Given the description of an element on the screen output the (x, y) to click on. 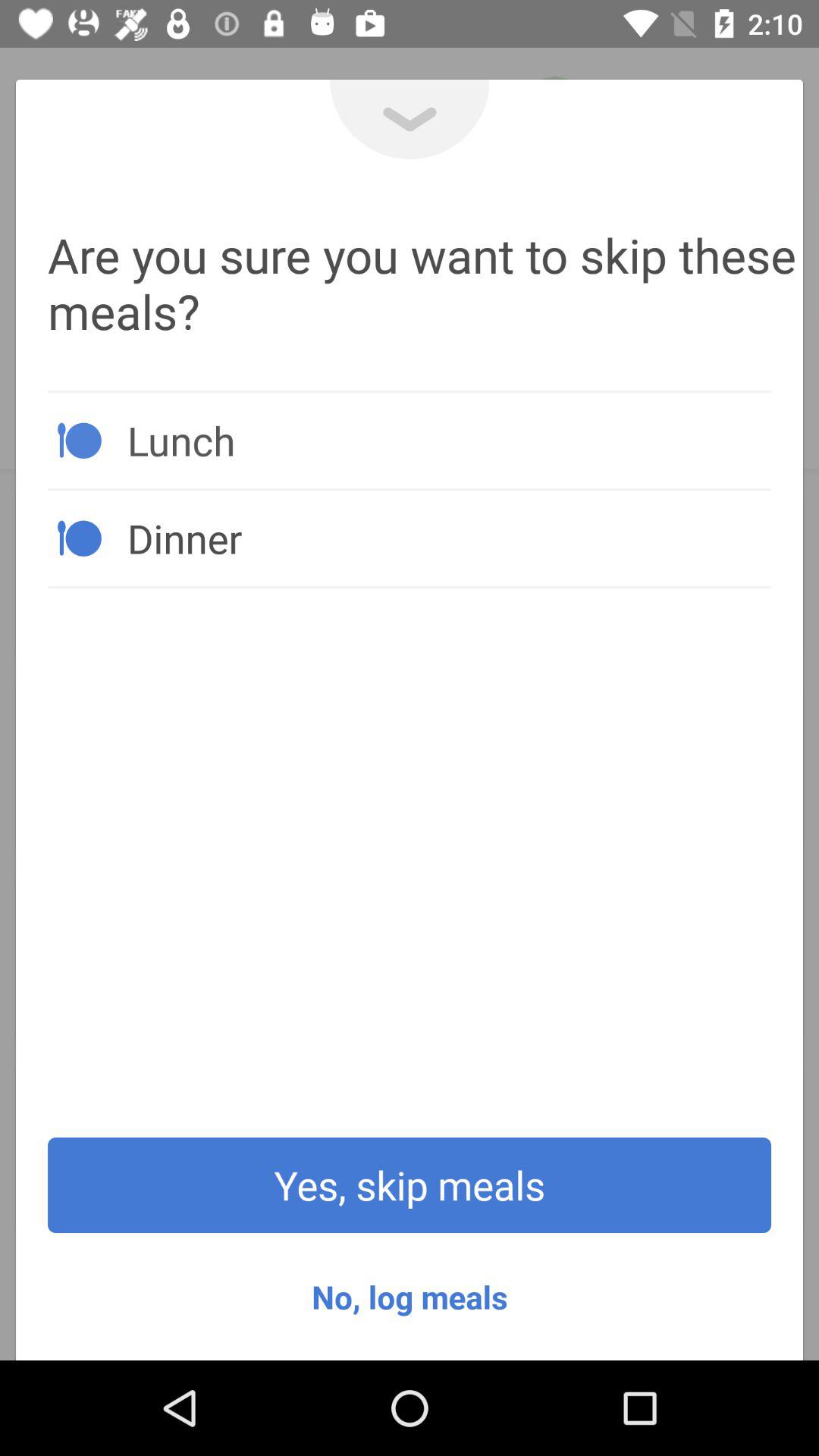
tap the no, log meals icon (409, 1296)
